Given the description of an element on the screen output the (x, y) to click on. 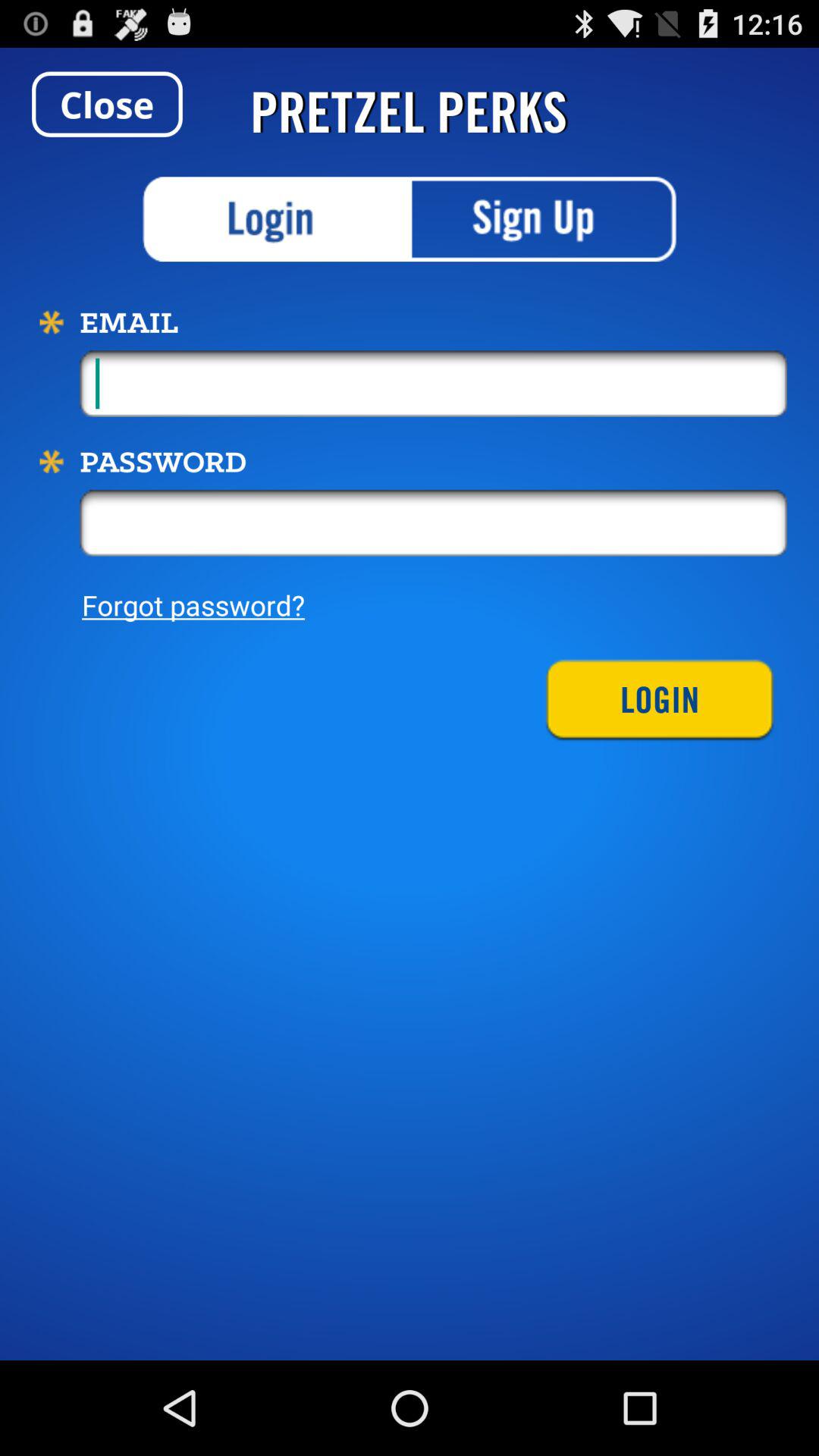
enter password (433, 522)
